Given the description of an element on the screen output the (x, y) to click on. 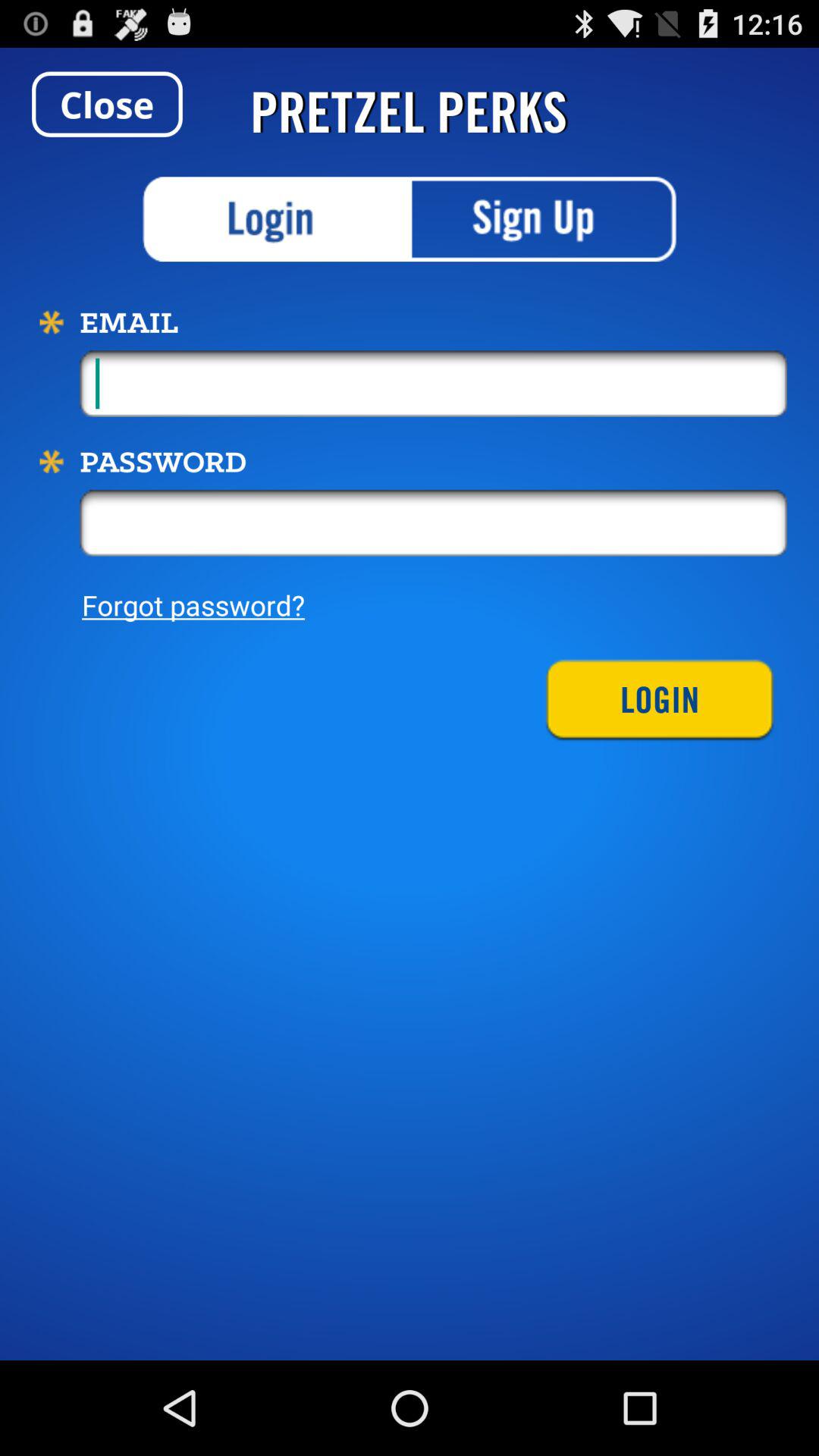
enter password (433, 522)
